Given the description of an element on the screen output the (x, y) to click on. 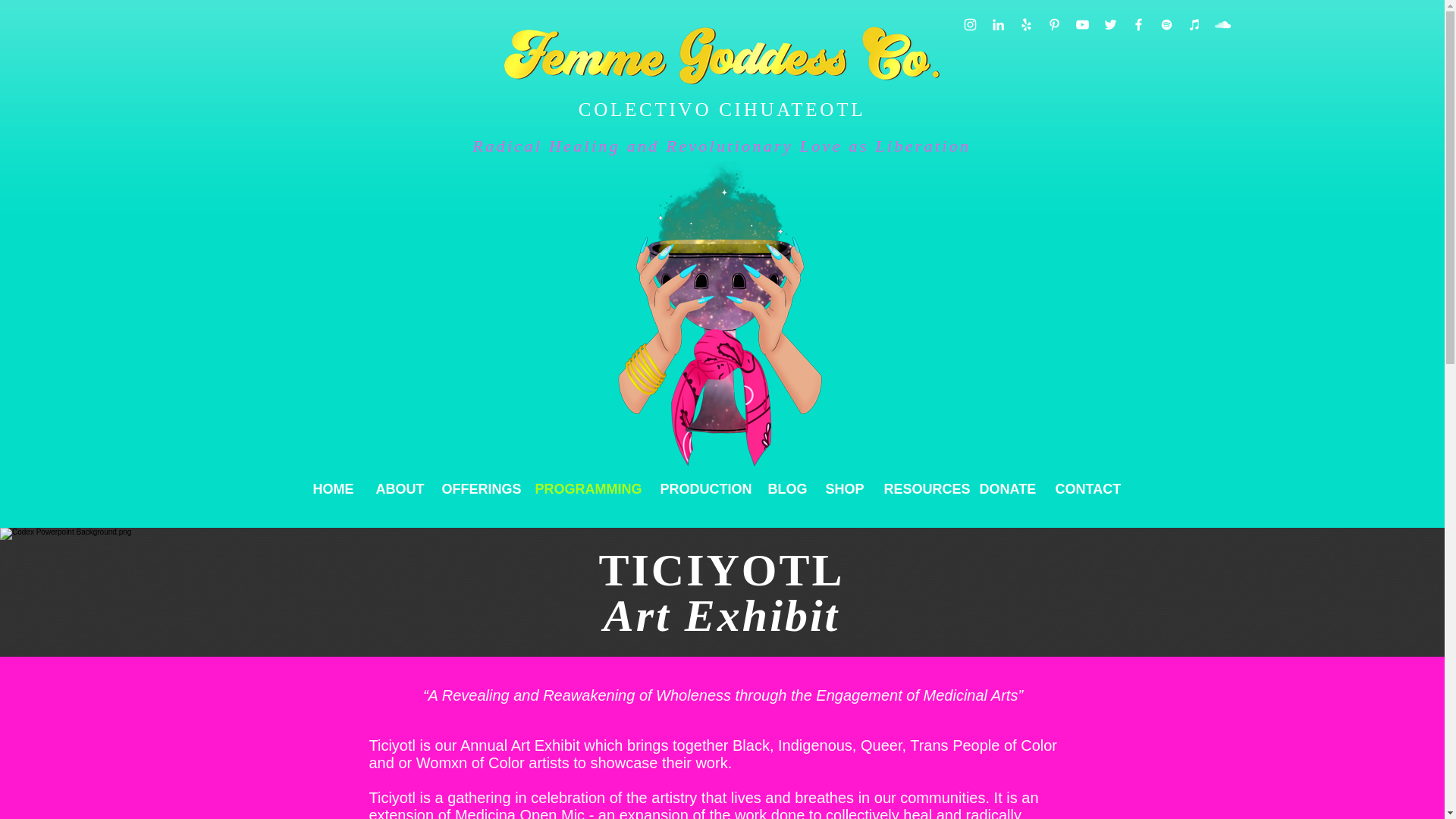
COLECTIVO CIHUATEOTL (721, 109)
PRODUCTION (703, 488)
HOME (333, 488)
PROGRAMMING (584, 488)
CONTACT (1086, 488)
Radical Healing and Revolutionary Love as Liberation (722, 145)
SHOP (842, 488)
OFFERINGS (477, 488)
RESOURCES (920, 488)
DONATE (1005, 488)
